Given the description of an element on the screen output the (x, y) to click on. 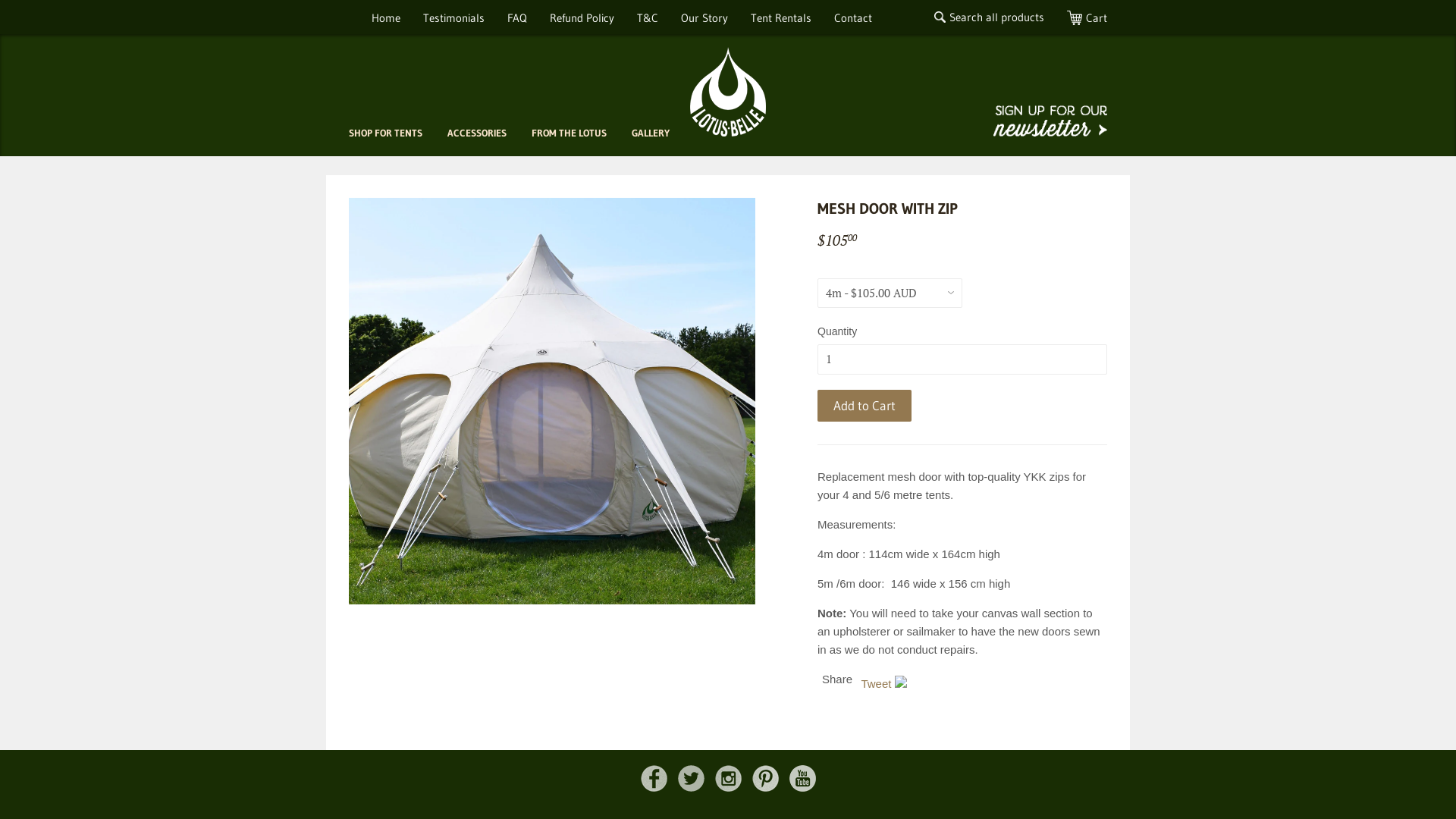
Contact Element type: text (852, 17)
T&C Element type: text (647, 17)
Home Element type: text (385, 17)
Add to Cart Element type: text (864, 405)
SHOP FOR TENTS Element type: text (385, 132)
Cart Element type: text (1086, 17)
Refund Policy Element type: text (581, 17)
Testimonials Element type: text (453, 17)
Our Story Element type: text (704, 17)
Tent Rentals Element type: text (780, 17)
Tweet Element type: text (875, 683)
GALLERY Element type: text (650, 132)
ACCESSORIES Element type: text (476, 132)
FAQ Element type: text (516, 17)
FROM THE LOTUS Element type: text (569, 132)
